Given the description of an element on the screen output the (x, y) to click on. 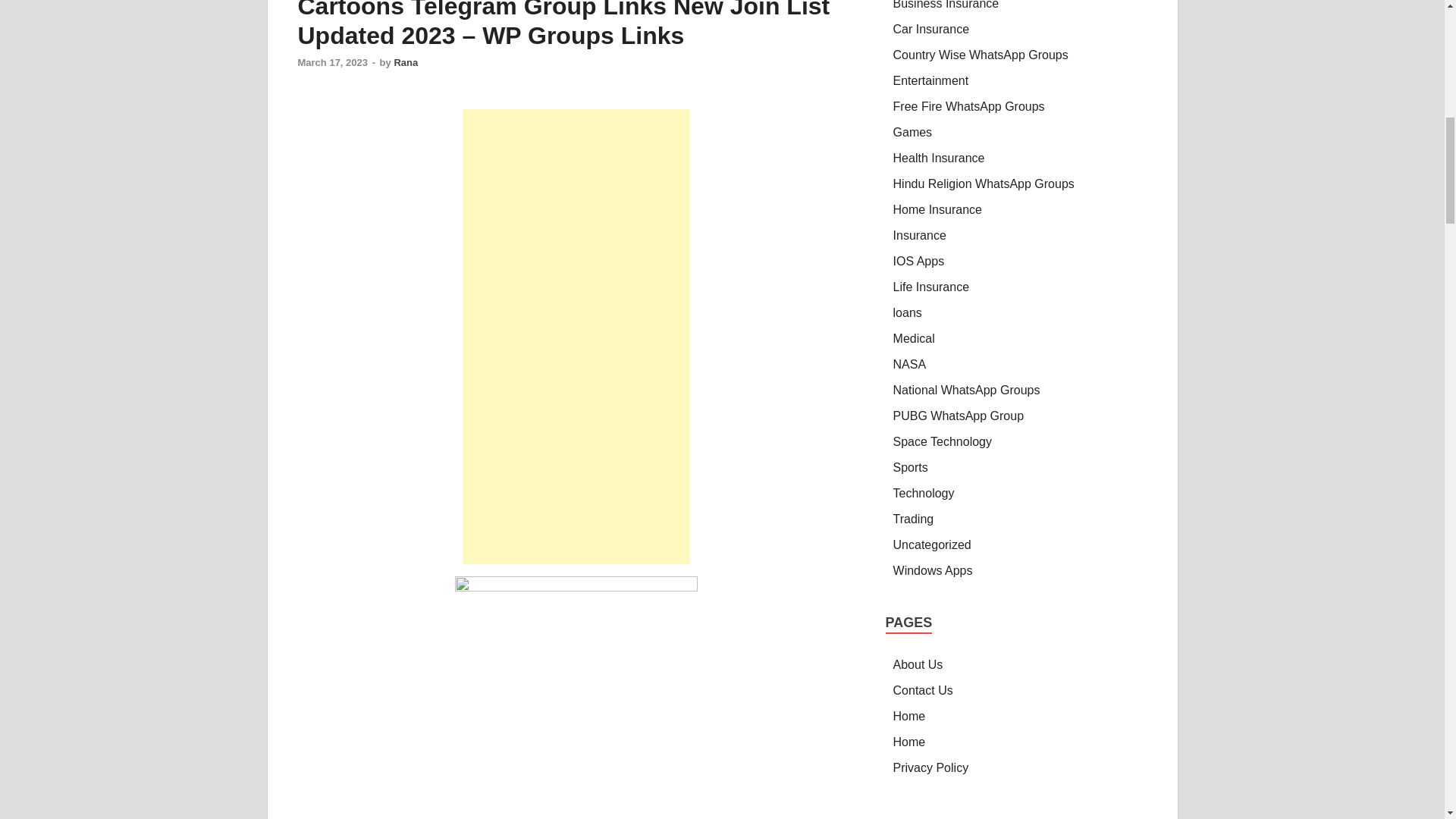
March 17, 2023 (332, 61)
Rana (405, 61)
